Given the description of an element on the screen output the (x, y) to click on. 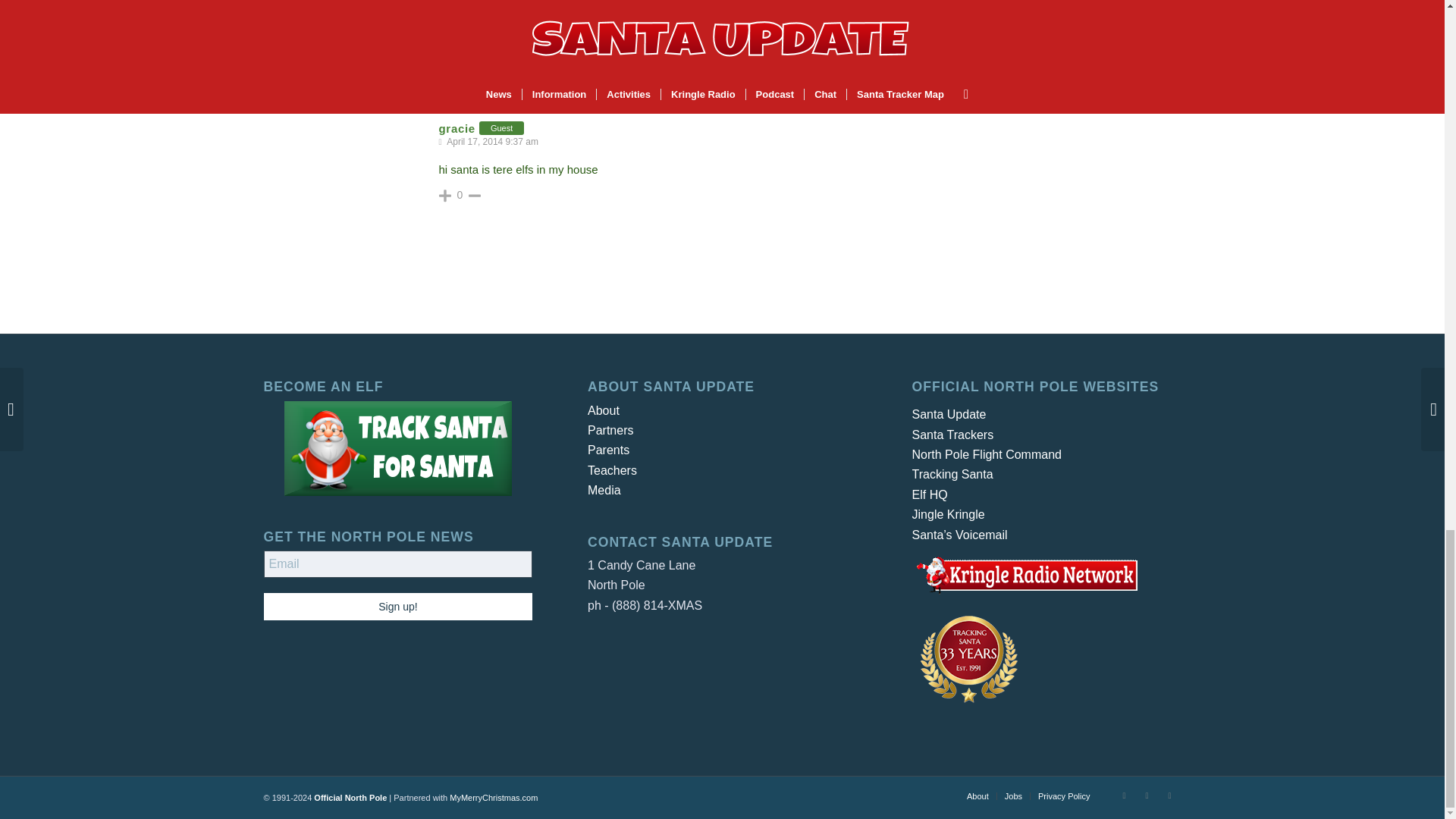
0 (458, 194)
Sign up! (397, 605)
April 17, 2014 9:37 am (491, 142)
